Given the description of an element on the screen output the (x, y) to click on. 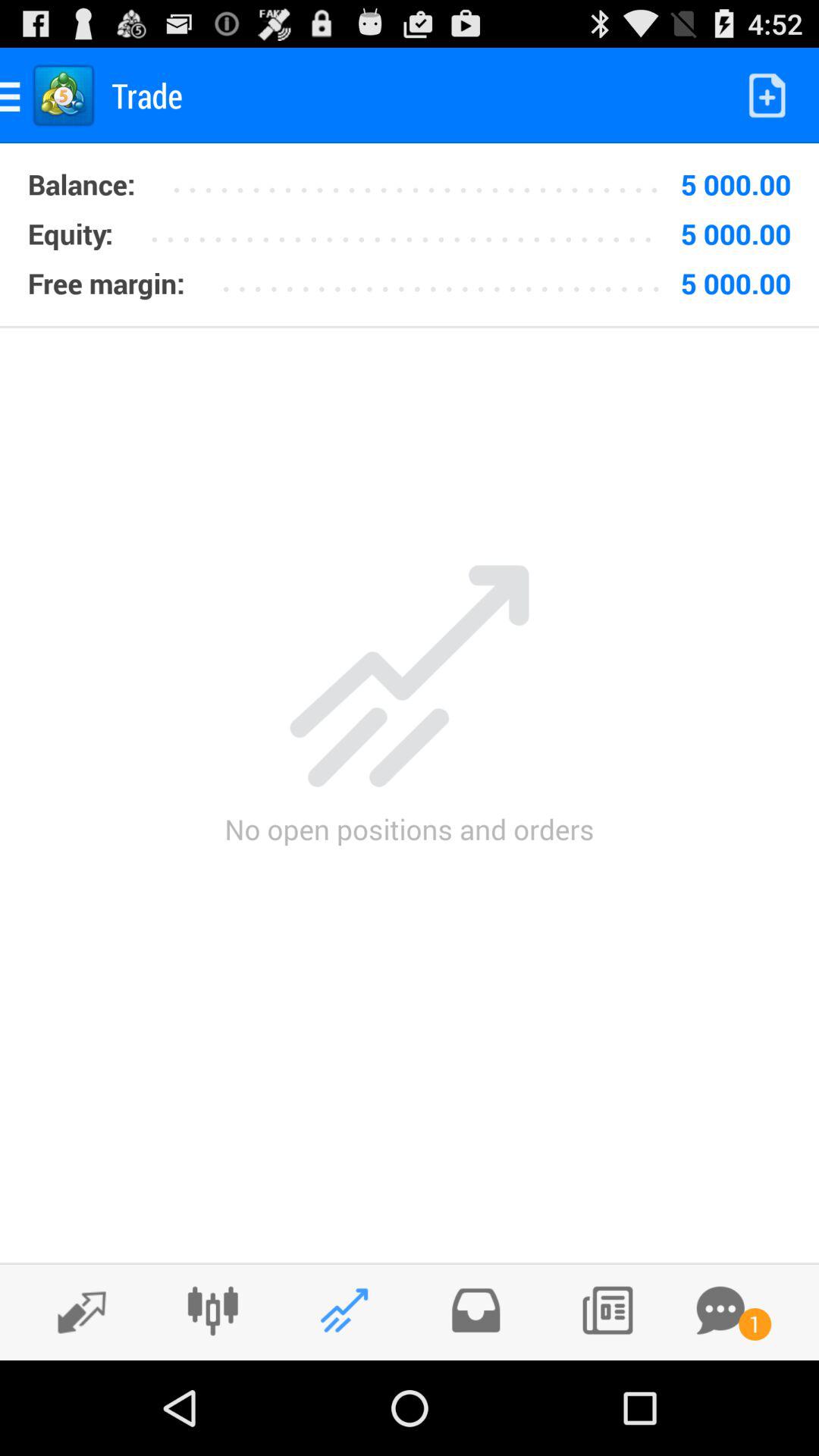
message notification (720, 1310)
